Given the description of an element on the screen output the (x, y) to click on. 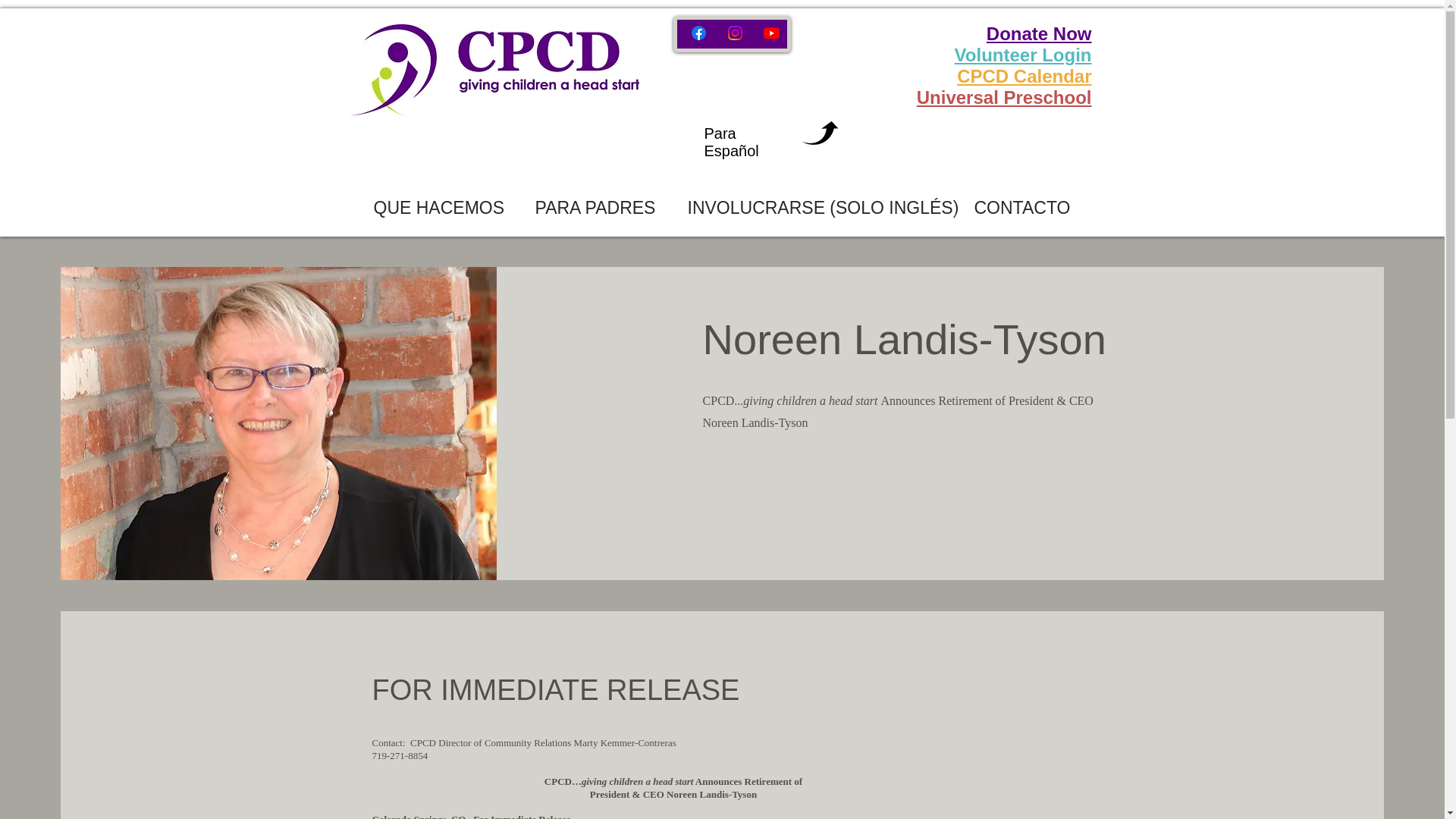
Donate Now (1039, 33)
PARA PADRES (569, 207)
Volunteer Login (1023, 55)
QUE HACEMOS (434, 207)
Universal Preschool (1004, 96)
CPCD Calendar (1023, 76)
